Given the description of an element on the screen output the (x, y) to click on. 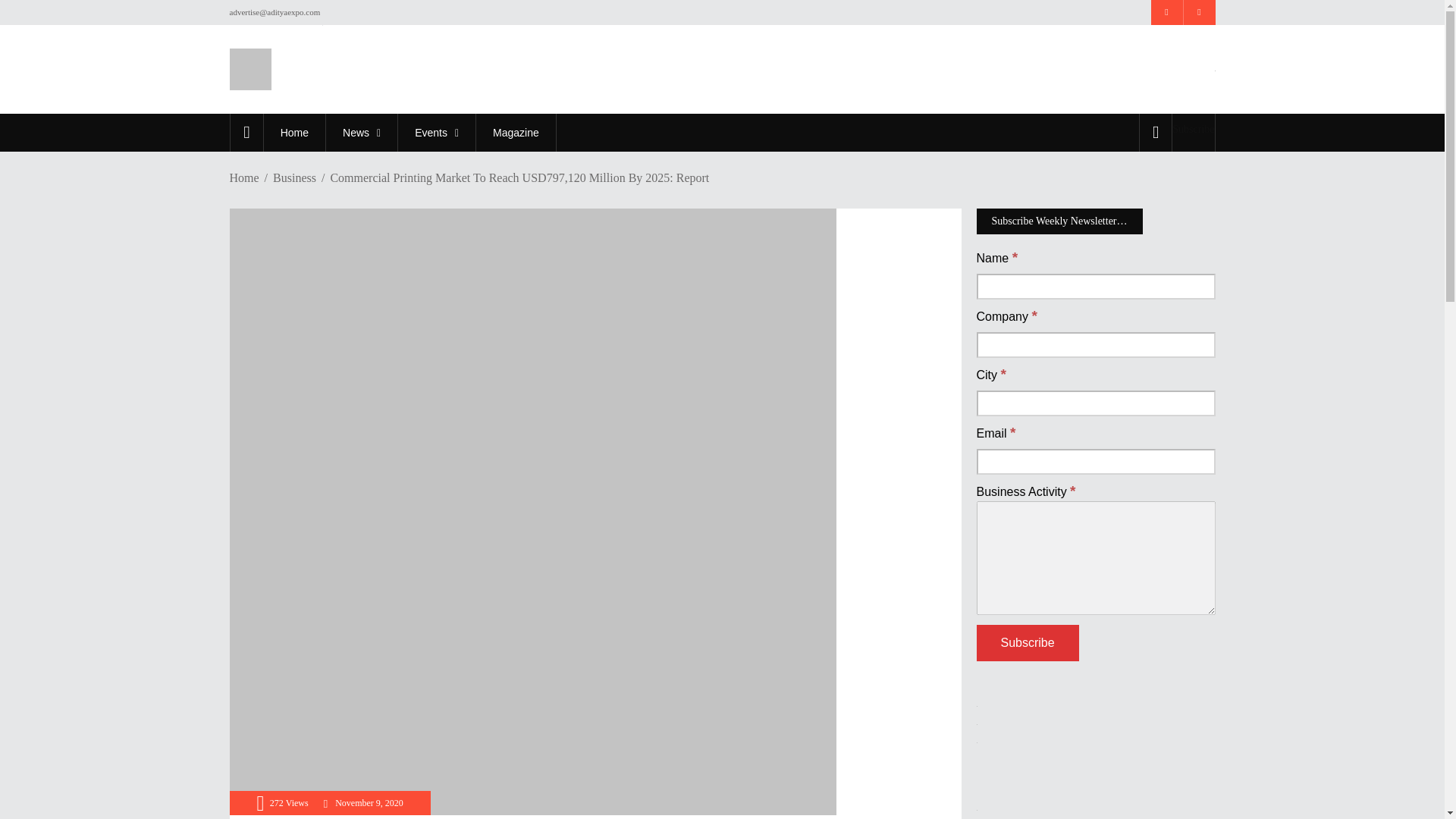
Home (293, 132)
News (360, 132)
Subscribe (1027, 642)
Magazine (516, 132)
Subscribe (1193, 129)
Events (436, 132)
